Given the description of an element on the screen output the (x, y) to click on. 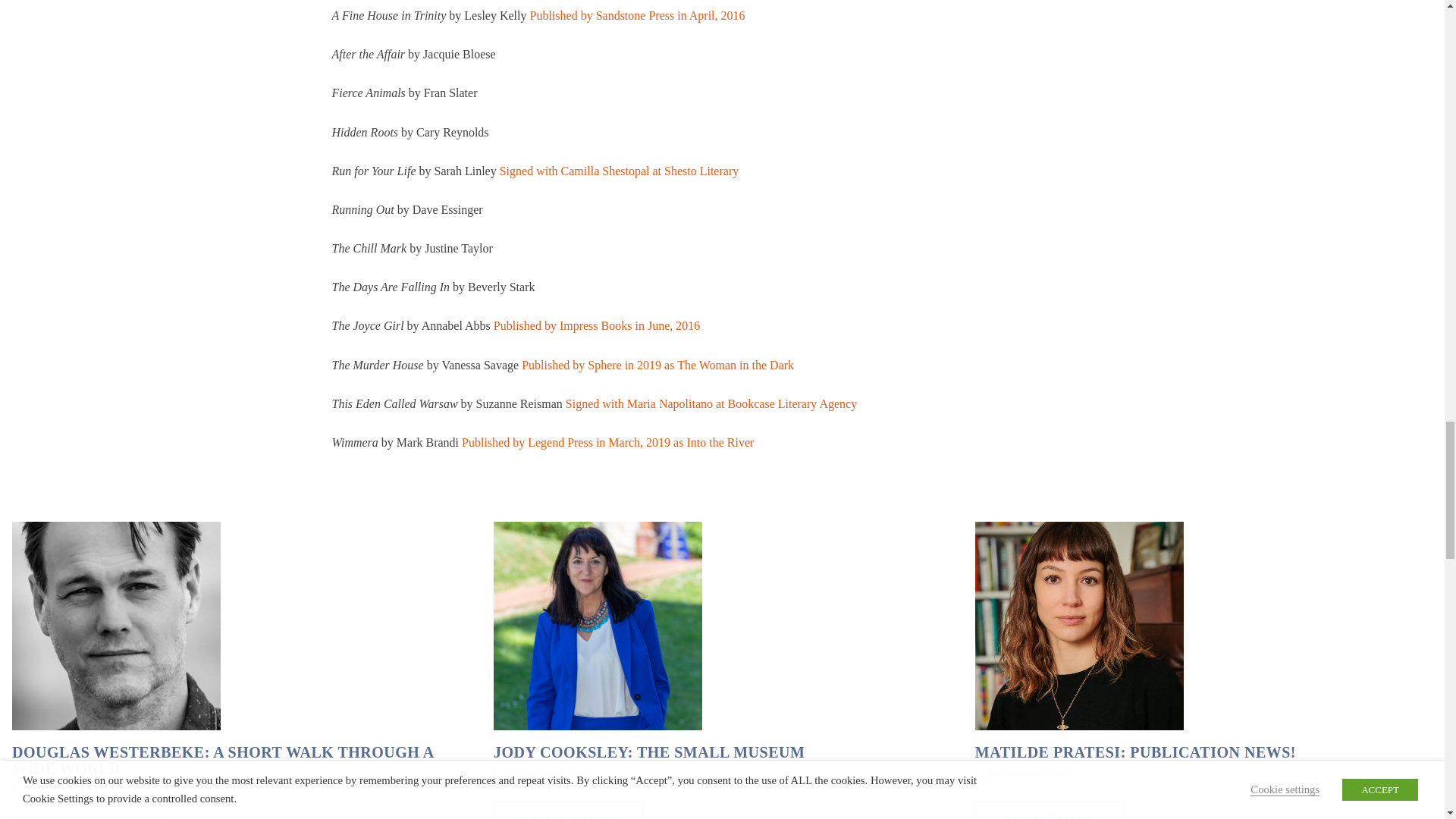
READ MORE (1050, 809)
MATILDE PRATESI: PUBLICATION NEWS! (1135, 751)
READ MORE (568, 809)
JODY COOKSLEY: THE SMALL MUSEUM (649, 751)
DOUGLAS WESTERBEKE: A SHORT WALK THROUGH A WIDE WORLD (239, 760)
